Given the description of an element on the screen output the (x, y) to click on. 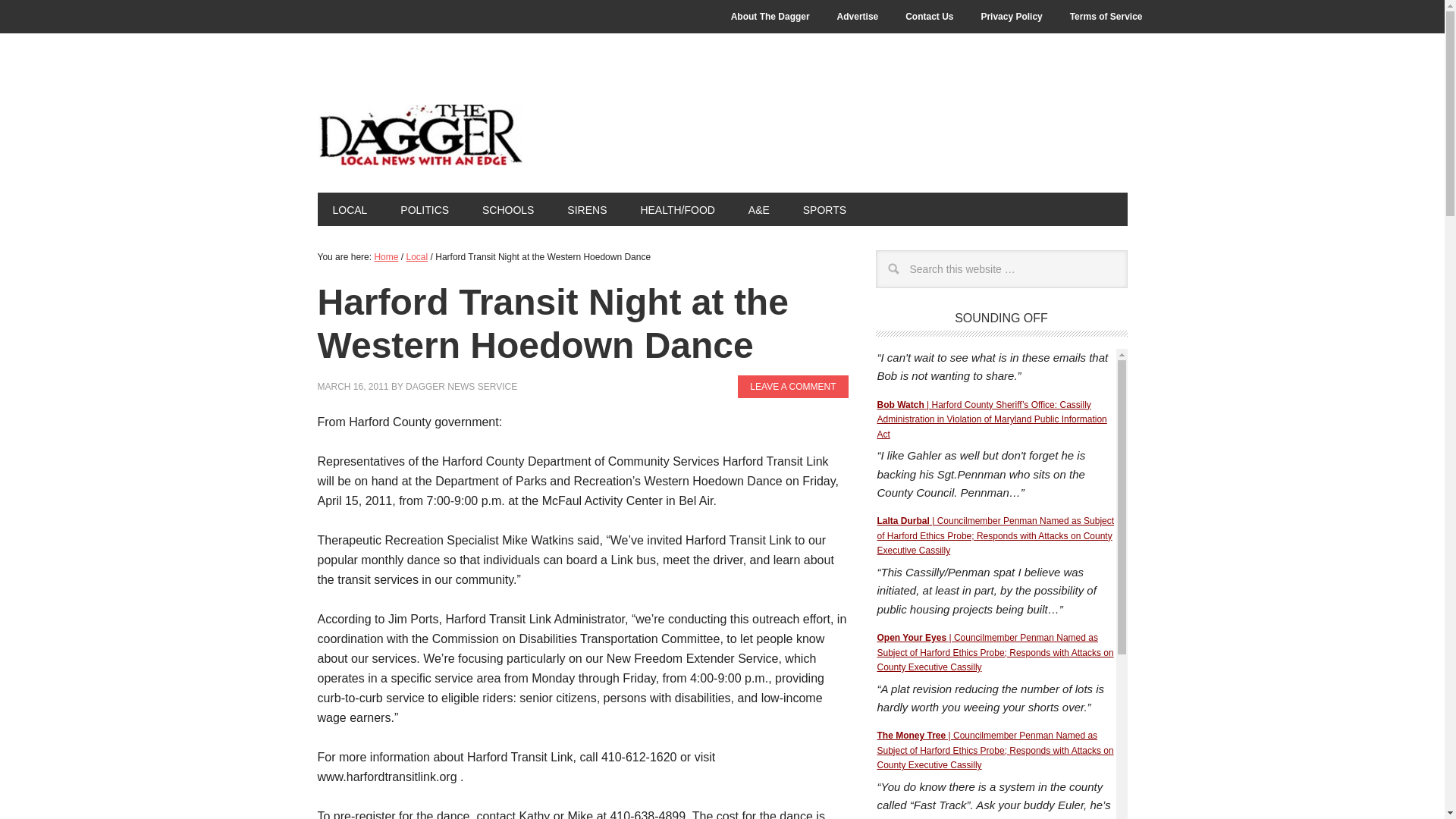
SCHOOLS (507, 209)
Schools (507, 209)
SPORTS (824, 209)
DAGGER NEWS SERVICE (461, 386)
Home (385, 256)
LOCAL (349, 209)
Local (417, 256)
Privacy Policy (1011, 16)
Terms of Service (1106, 16)
THE DAGGER - LOCAL NEWS WITH AN EDGE (419, 134)
Contact Us (929, 16)
LEAVE A COMMENT (792, 386)
POLITICS (424, 209)
